Given the description of an element on the screen output the (x, y) to click on. 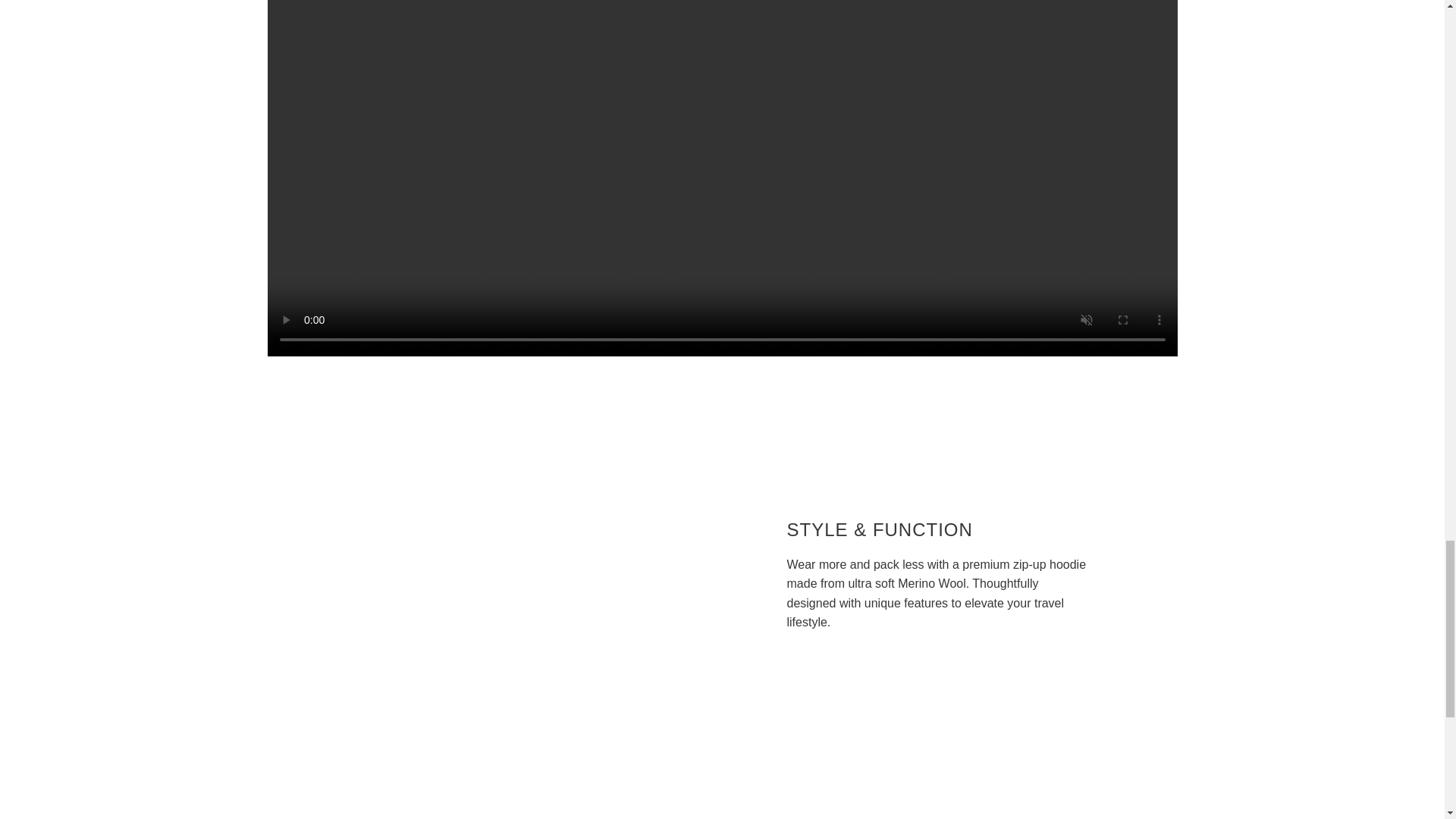
THE WORLD'S MOST SUSTAINABLE FABRIC (938, 811)
